Given the description of an element on the screen output the (x, y) to click on. 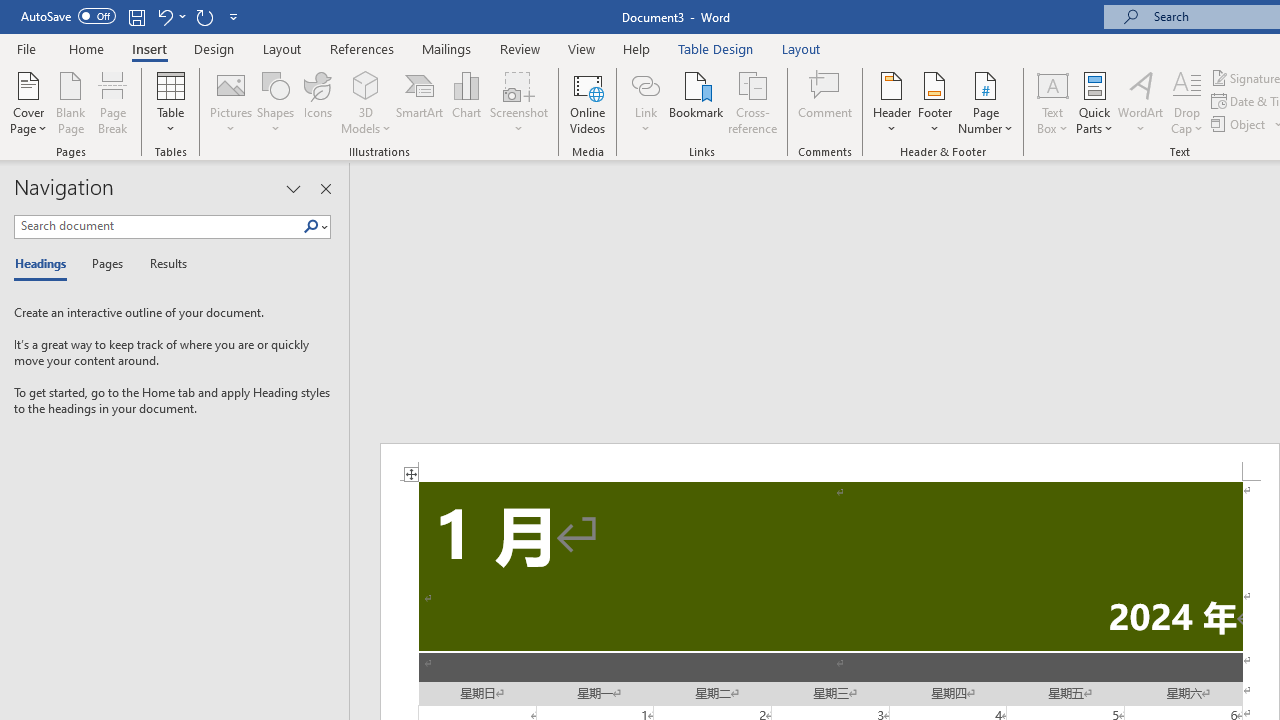
Repeat Doc Close (204, 15)
Customize Quick Access Toolbar (234, 15)
Undo Increase Indent (164, 15)
Table (170, 102)
Cover Page (28, 102)
Table Design (715, 48)
System (10, 11)
Chart... (466, 102)
Online Videos... (588, 102)
More Options (645, 121)
Search (311, 227)
Search (315, 227)
Page Number (986, 102)
Insert (149, 48)
